Given the description of an element on the screen output the (x, y) to click on. 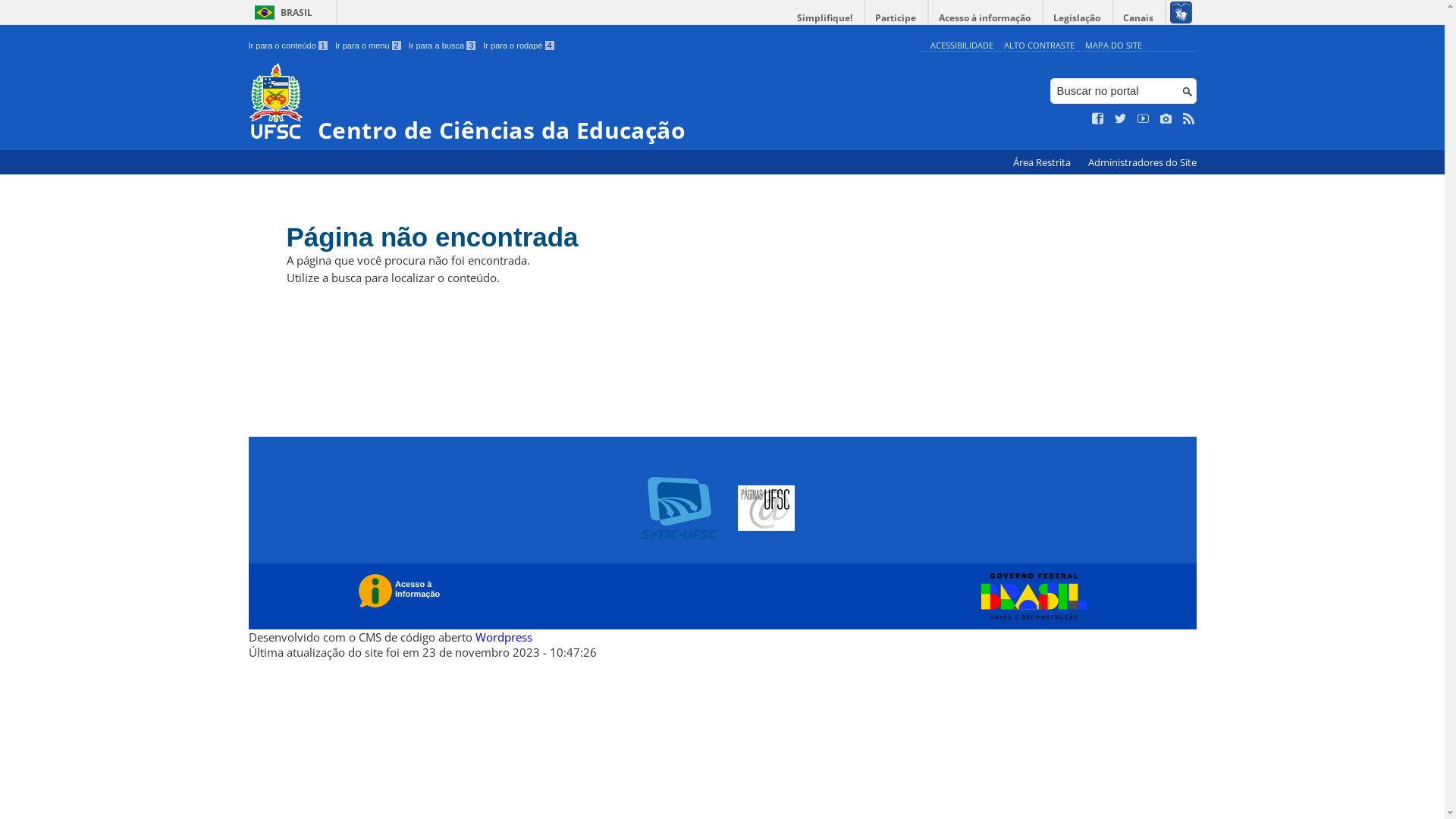
Canais Element type: text (1138, 18)
Administradores do Site Element type: text (1141, 162)
Governo Federal Element type: hover (1029, 596)
MAPA DO SITE Element type: text (1112, 44)
Ir para a busca 3 Element type: text (442, 45)
Siga no Twitter Element type: hover (1120, 118)
BRASIL Element type: text (280, 12)
ACESSIBILIDADE Element type: text (960, 44)
ALTO CONTRASTE Element type: text (1039, 44)
Ir para o menu 2 Element type: text (368, 45)
Simplifique! Element type: text (825, 18)
Participe Element type: text (895, 18)
Veja no Instagram Element type: hover (1166, 118)
Curta no Facebook Element type: hover (1098, 118)
Wordpress Element type: text (502, 636)
